Given the description of an element on the screen output the (x, y) to click on. 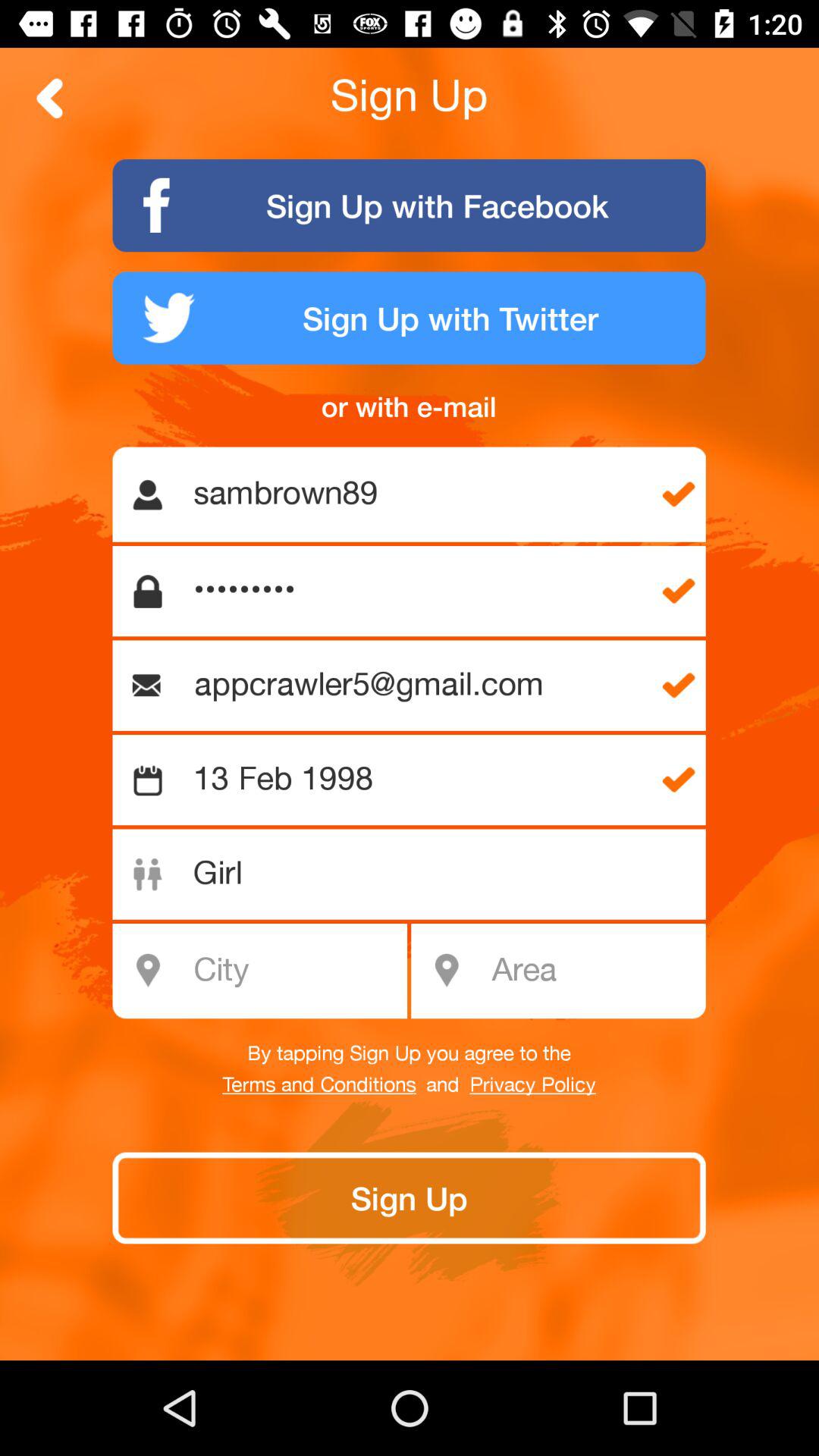
click the item next to the and icon (319, 1085)
